Given the description of an element on the screen output the (x, y) to click on. 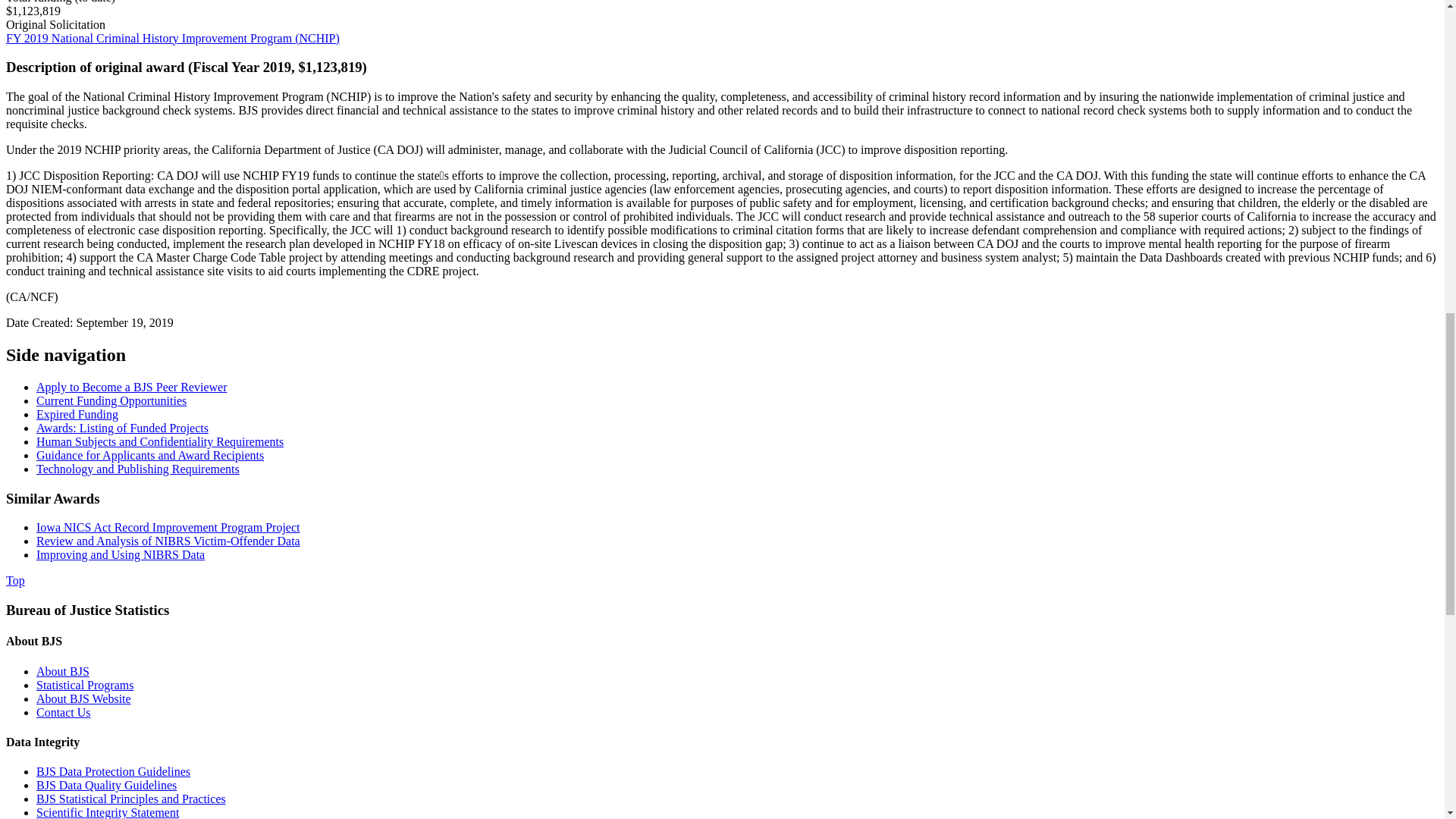
Apply to Become a BJS Peer Reviewer (131, 386)
Current Funding Opportunities (111, 400)
Iowa NICS Act Record Improvement Program Project (167, 526)
Expired Funding (76, 413)
Improving and Using NIBRS Data (120, 554)
Review and Analysis of NIBRS Victim-Offender Data (167, 540)
Technology and Publishing Requirements (138, 468)
Human Subjects and Confidentiality Requirements (159, 440)
Guidance for Applicants and Award Recipients (149, 454)
Awards: Listing of Funded Projects (122, 427)
